Given the description of an element on the screen output the (x, y) to click on. 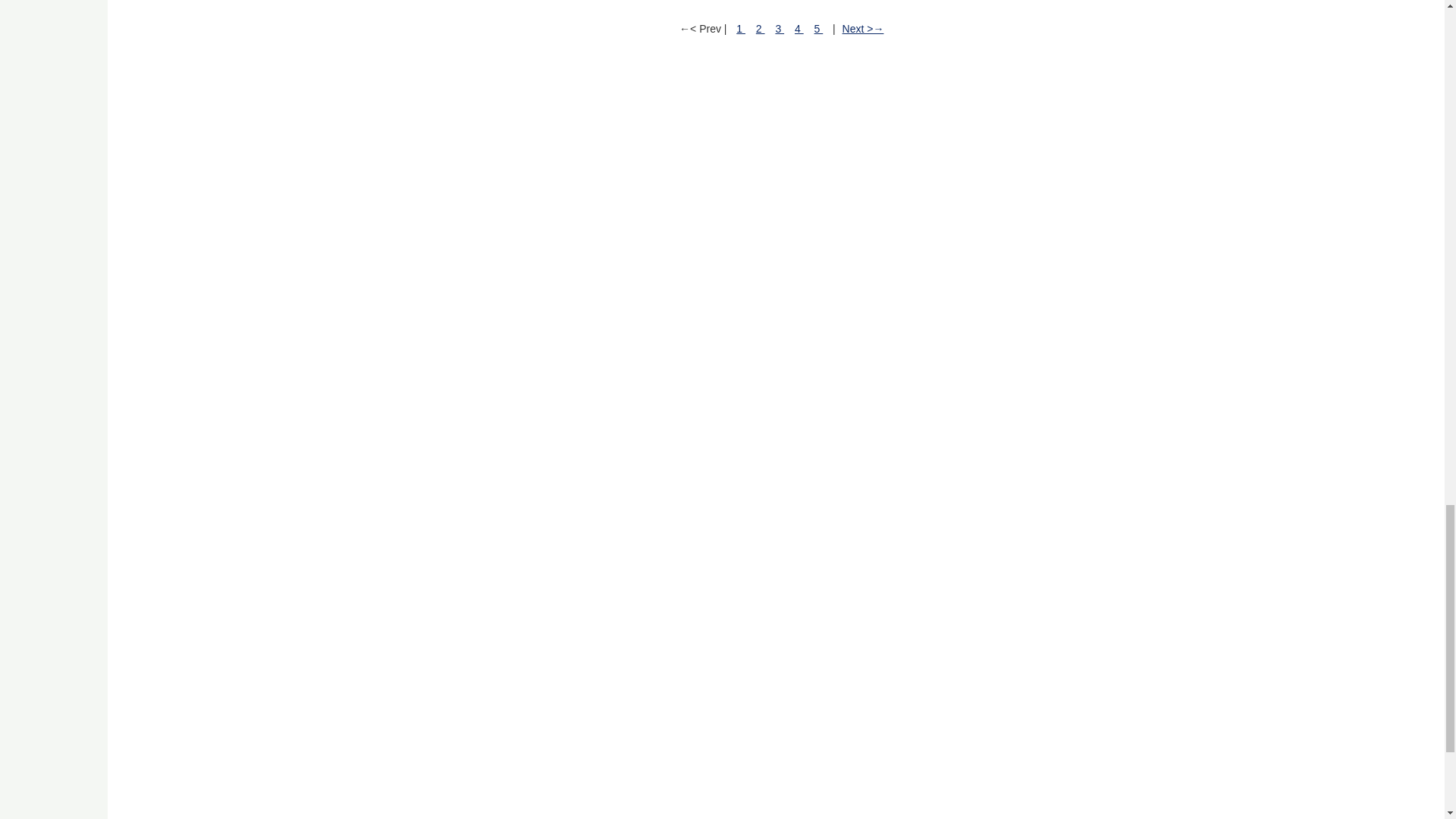
Advertisement (570, 775)
